Given the description of an element on the screen output the (x, y) to click on. 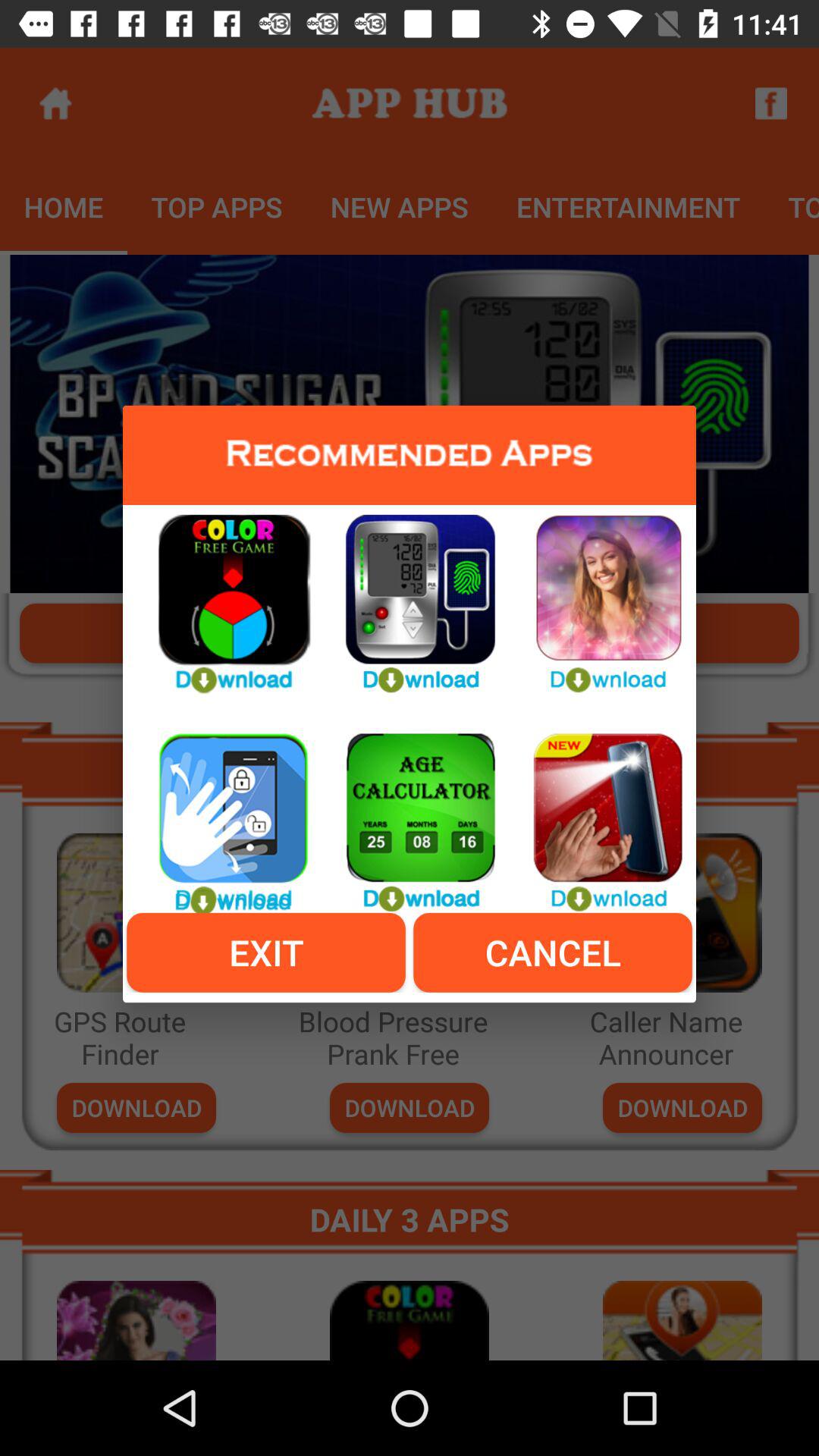
click to download apps (409, 594)
